Given the description of an element on the screen output the (x, y) to click on. 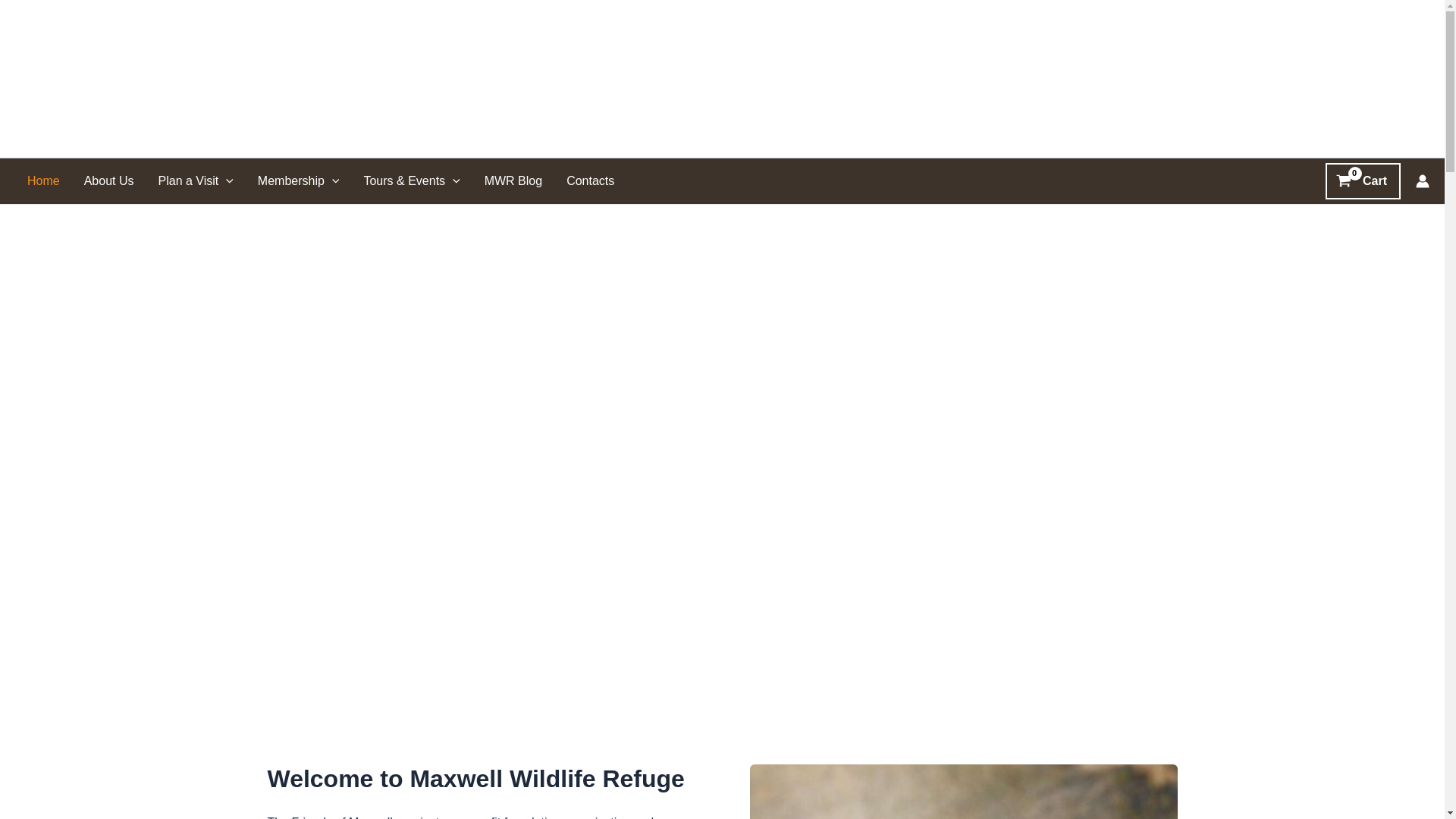
About Us (109, 180)
Cart (1362, 180)
Plan a Visit (194, 180)
MWR Blog (512, 180)
Membership (299, 180)
Home (42, 180)
Contacts (590, 180)
